Given the description of an element on the screen output the (x, y) to click on. 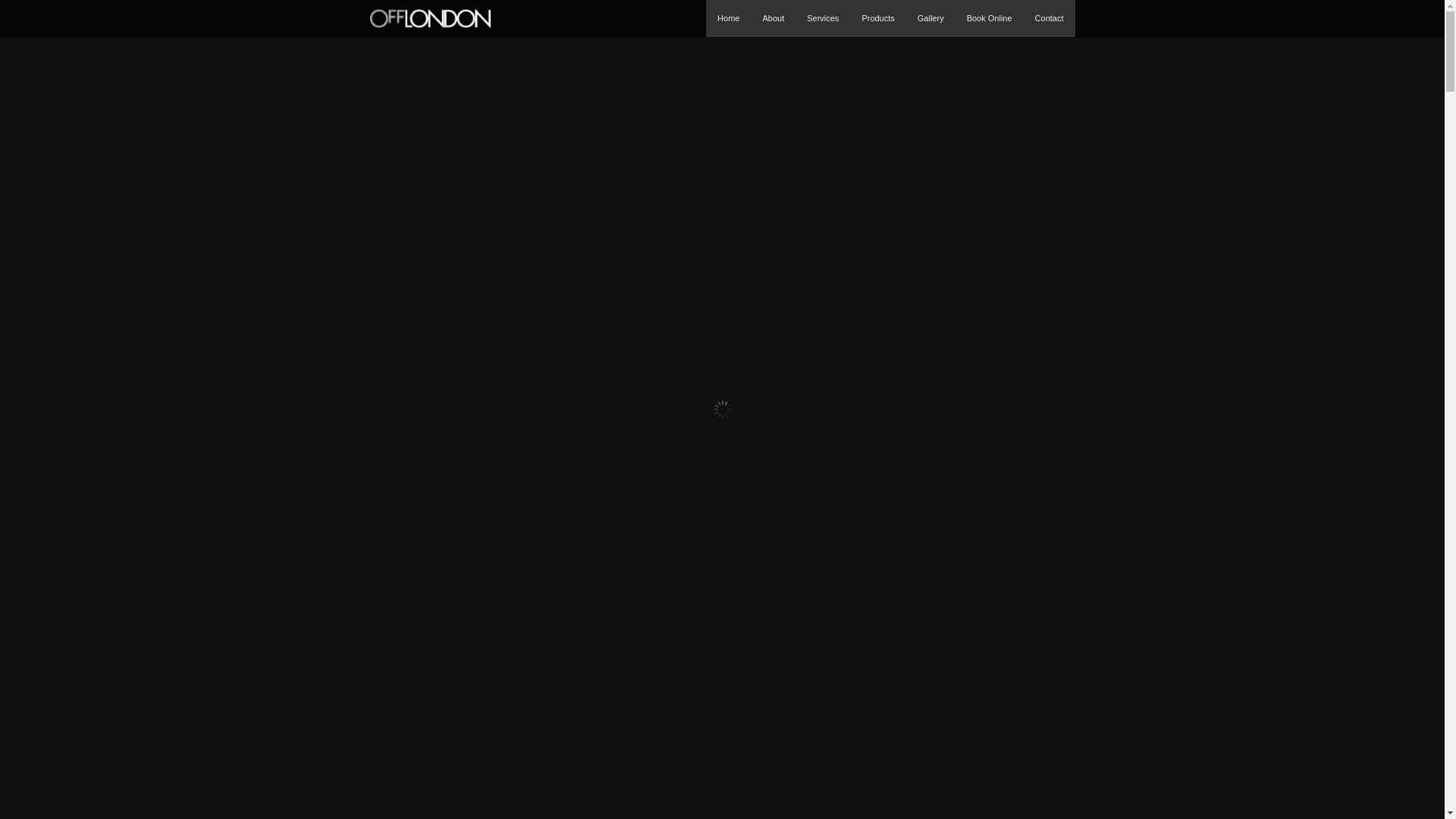
Products Element type: text (877, 18)
Services Element type: text (822, 18)
Book Online Element type: text (989, 18)
Gallery Element type: text (930, 18)
Home Element type: text (728, 18)
Contact Element type: text (1049, 18)
Off London Element type: hover (430, 24)
About Element type: text (772, 18)
